Given the description of an element on the screen output the (x, y) to click on. 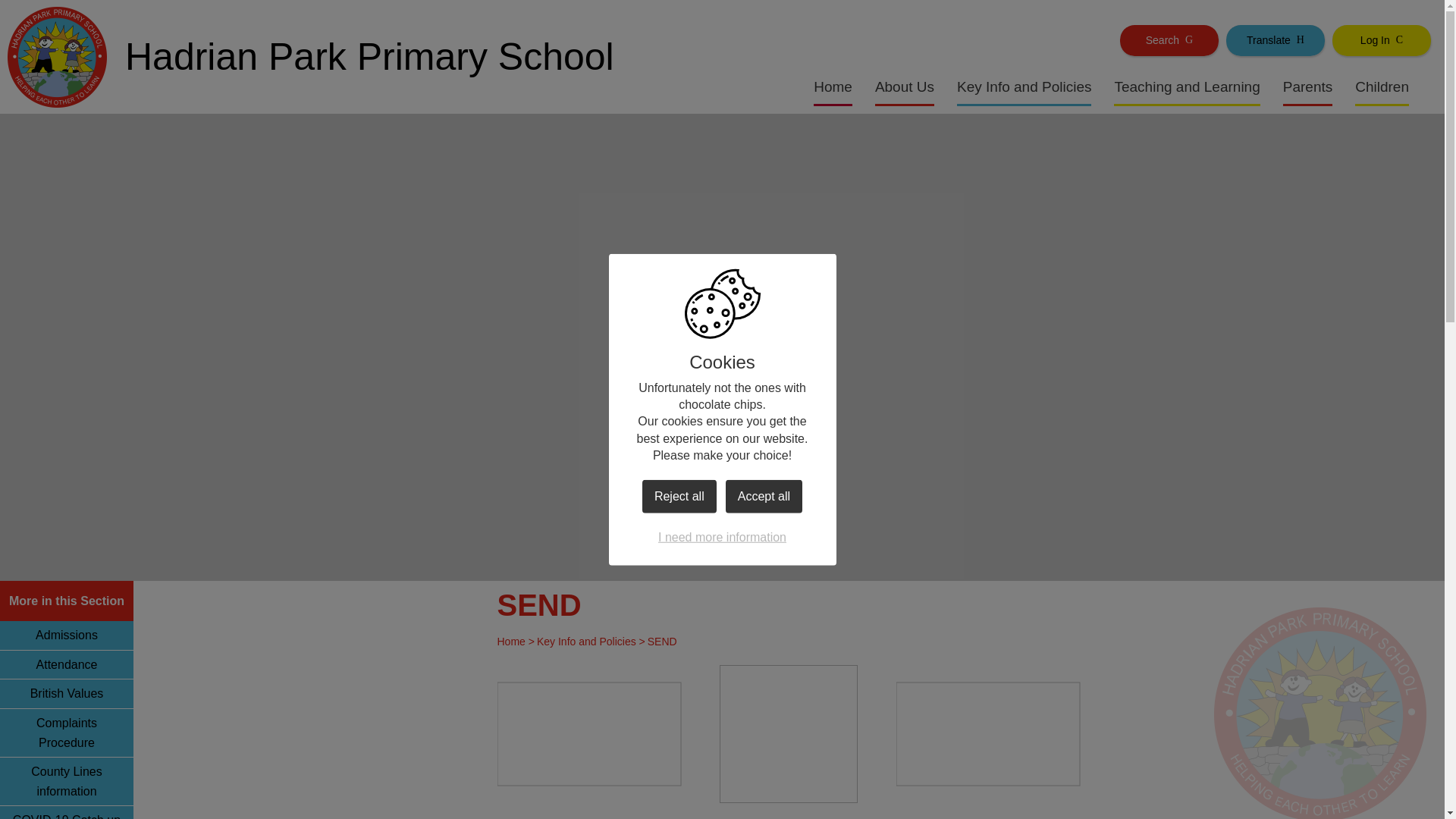
About Us (904, 86)
Log in (1381, 39)
Key Info and Policies (1023, 86)
Home (832, 86)
Home Page (62, 56)
